Given the description of an element on the screen output the (x, y) to click on. 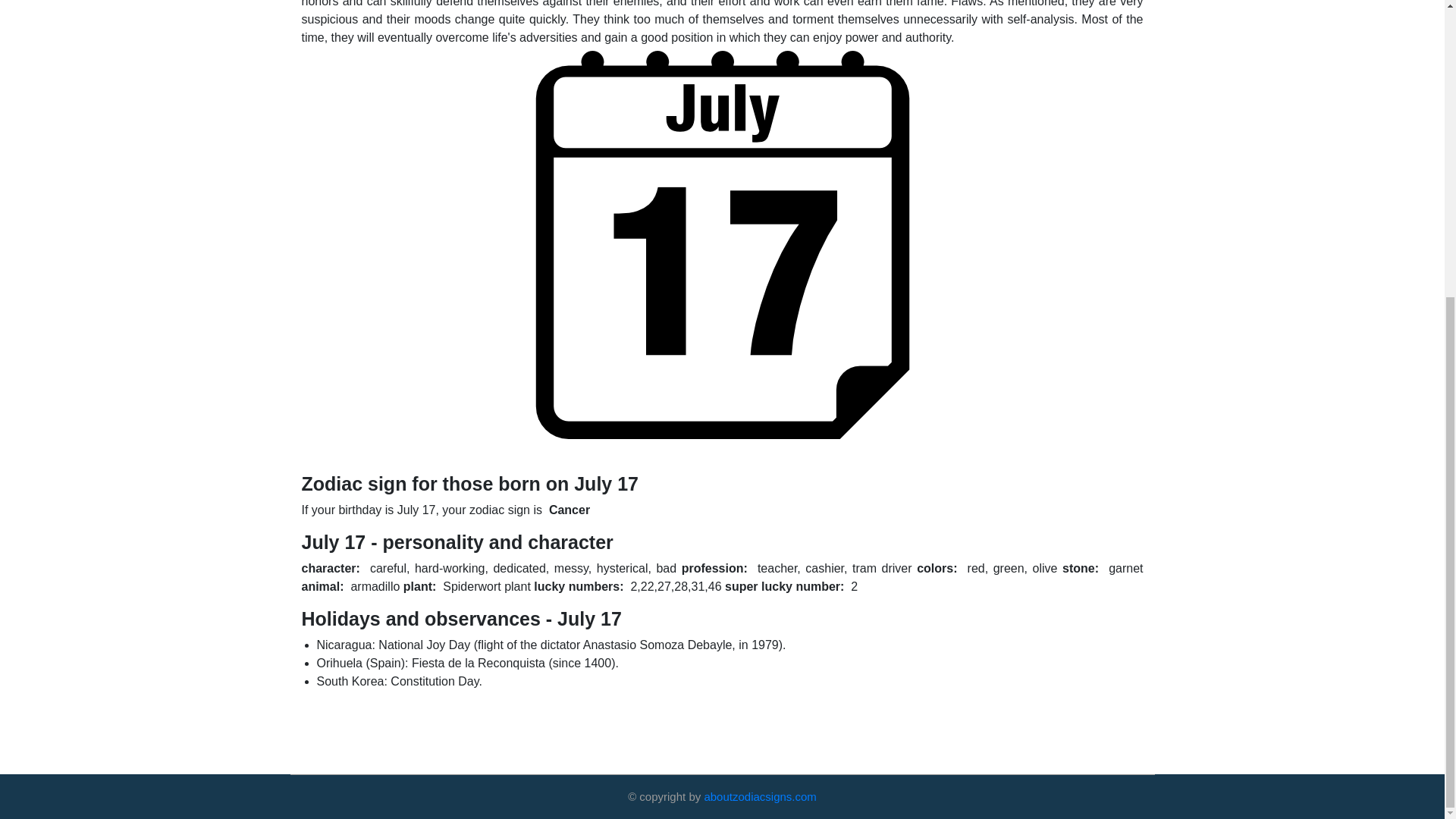
aboutzodiacsigns.com (759, 795)
